Given the description of an element on the screen output the (x, y) to click on. 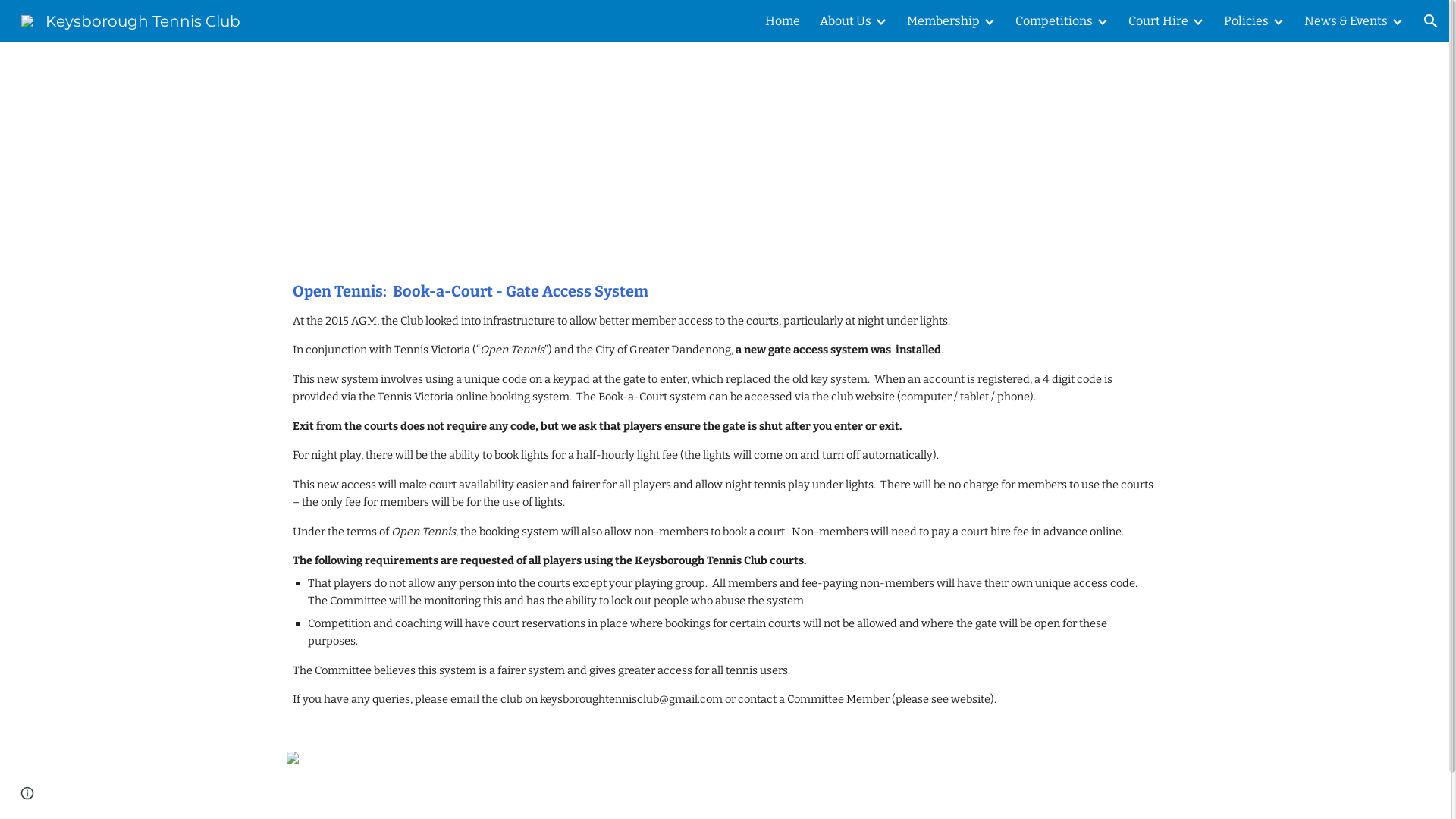
Expand/Collapse Element type: hover (880, 20)
Court Hire Element type: text (1158, 20)
Follow us on Facebook Element type: text (884, 772)
About Us Element type: text (845, 20)
Policies Element type: text (1245, 20)
Home Element type: text (782, 20)
Membership Element type: text (942, 20)
Expand/Collapse Element type: hover (1396, 20)
Expand/Collapse Element type: hover (1101, 20)
Keysborough Tennis Club Element type: text (130, 19)
keysboroughtennisclub@gmail.com Element type: text (630, 699)
News & Events Element type: text (1345, 20)
Expand/Collapse Element type: hover (988, 20)
Expand/Collapse Element type: hover (1277, 20)
keysboroughtennisclub@gmail.com Element type: text (947, 762)
Expand/Collapse Element type: hover (1197, 20)
Competitions Element type: text (1053, 20)
